Given the description of an element on the screen output the (x, y) to click on. 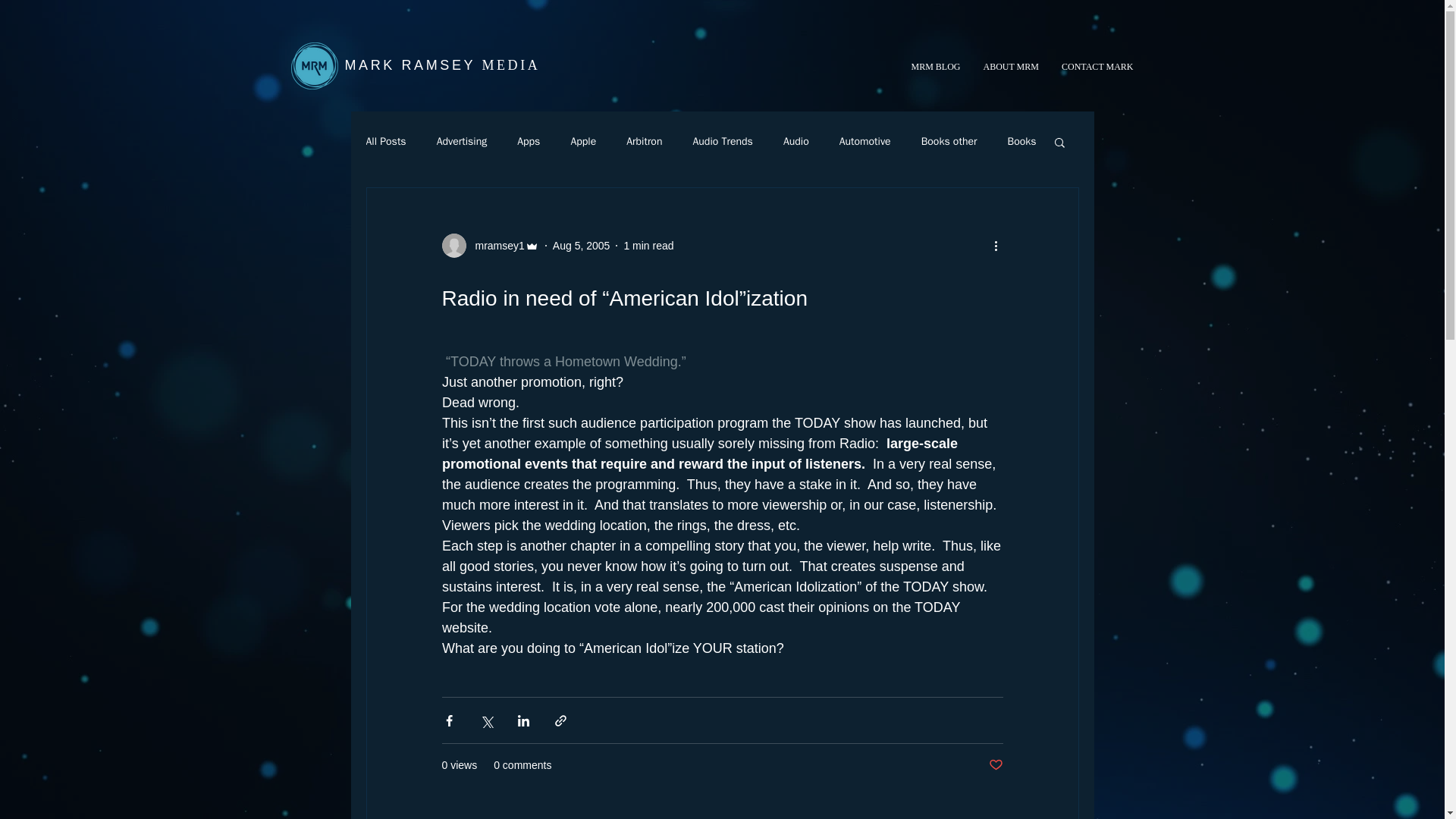
Books (1021, 141)
Audio (796, 141)
mramsey1 (489, 245)
MARK RAMSEY MEDIA (441, 64)
Advertising (461, 141)
CONTACT MARK (1094, 66)
Aug 5, 2005 (581, 245)
MRM BLOG (924, 66)
ABOUT MRM (1001, 66)
Arbitron (644, 141)
